Given the description of an element on the screen output the (x, y) to click on. 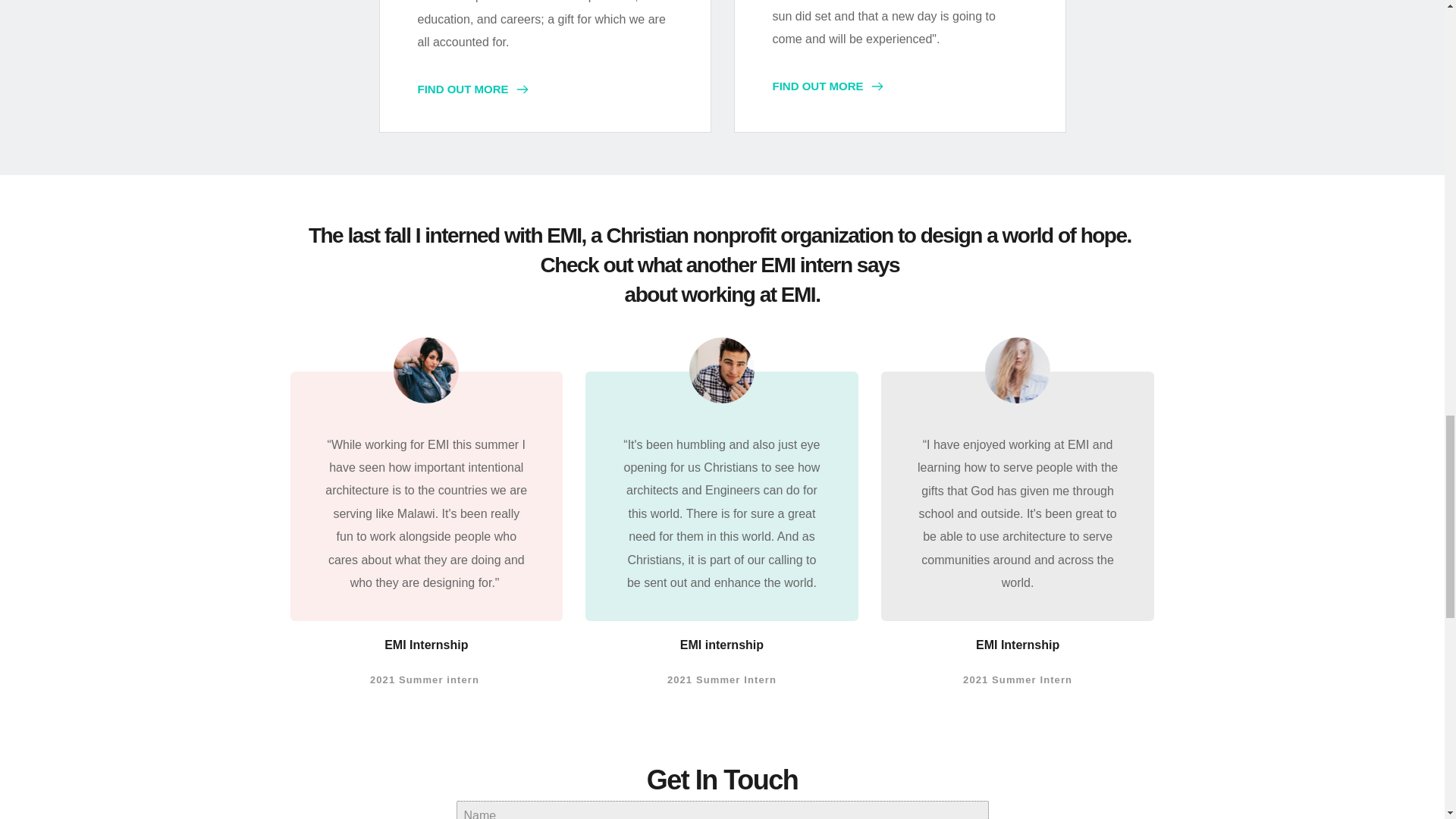
FIND OUT MORE (826, 86)
FIND OUT MORE (471, 88)
